Given the description of an element on the screen output the (x, y) to click on. 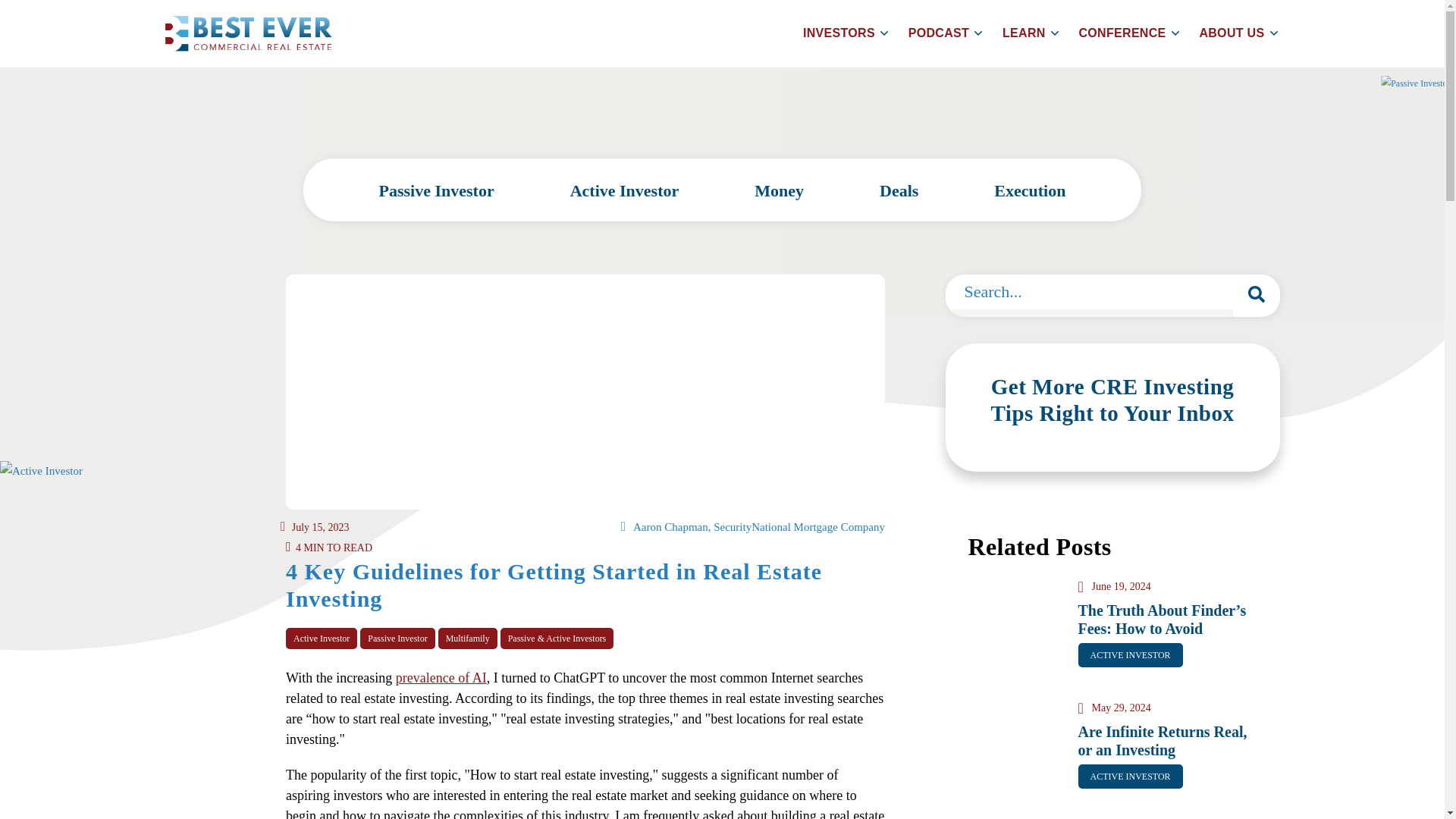
Money (778, 191)
CONFERENCE (1129, 33)
PODCAST (946, 33)
Deals (898, 191)
LEARN (1032, 33)
Active Investor (624, 191)
Post Title (1162, 740)
Execution (1029, 191)
Post Title (1162, 619)
Passive Investor (436, 191)
